Given the description of an element on the screen output the (x, y) to click on. 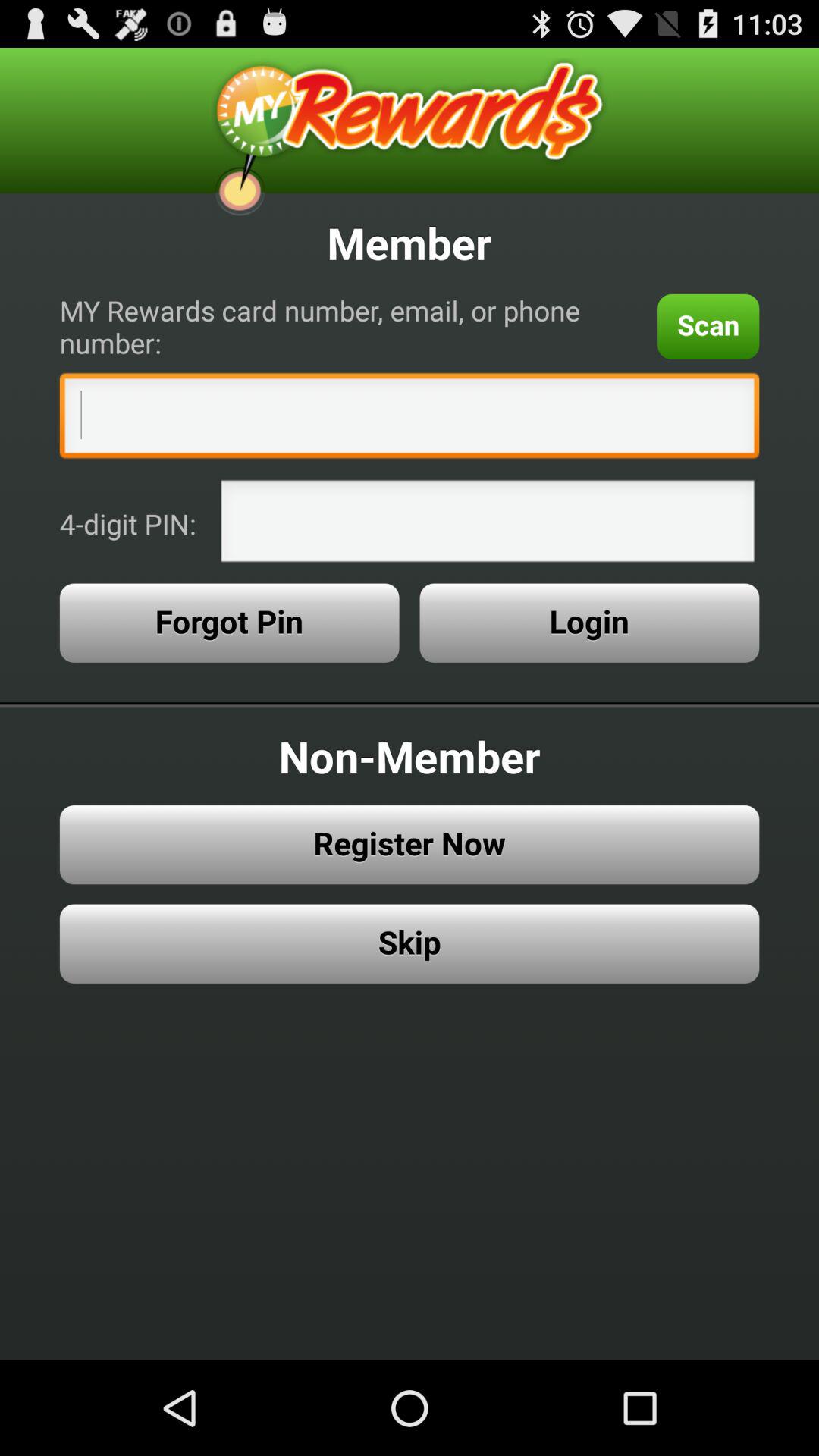
open register now button (409, 844)
